Given the description of an element on the screen output the (x, y) to click on. 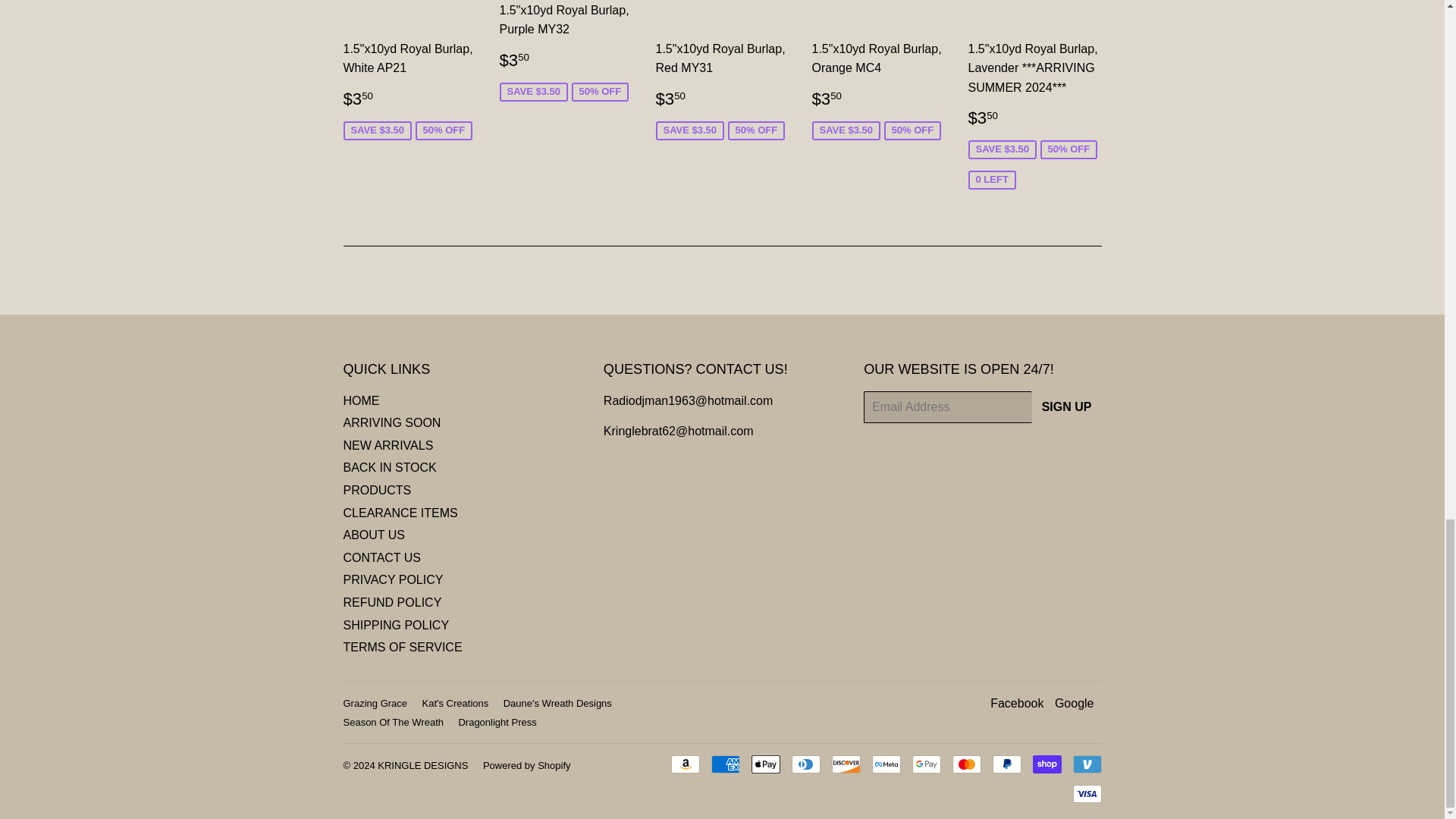
Shop Pay (1046, 764)
Venmo (1085, 764)
Discover (845, 764)
Apple Pay (764, 764)
Mastercard (966, 764)
Meta Pay (886, 764)
Amazon (683, 764)
KRINGLE DESIGNS on Facebook (1016, 703)
Google Pay (925, 764)
Diners Club (806, 764)
